Given the description of an element on the screen output the (x, y) to click on. 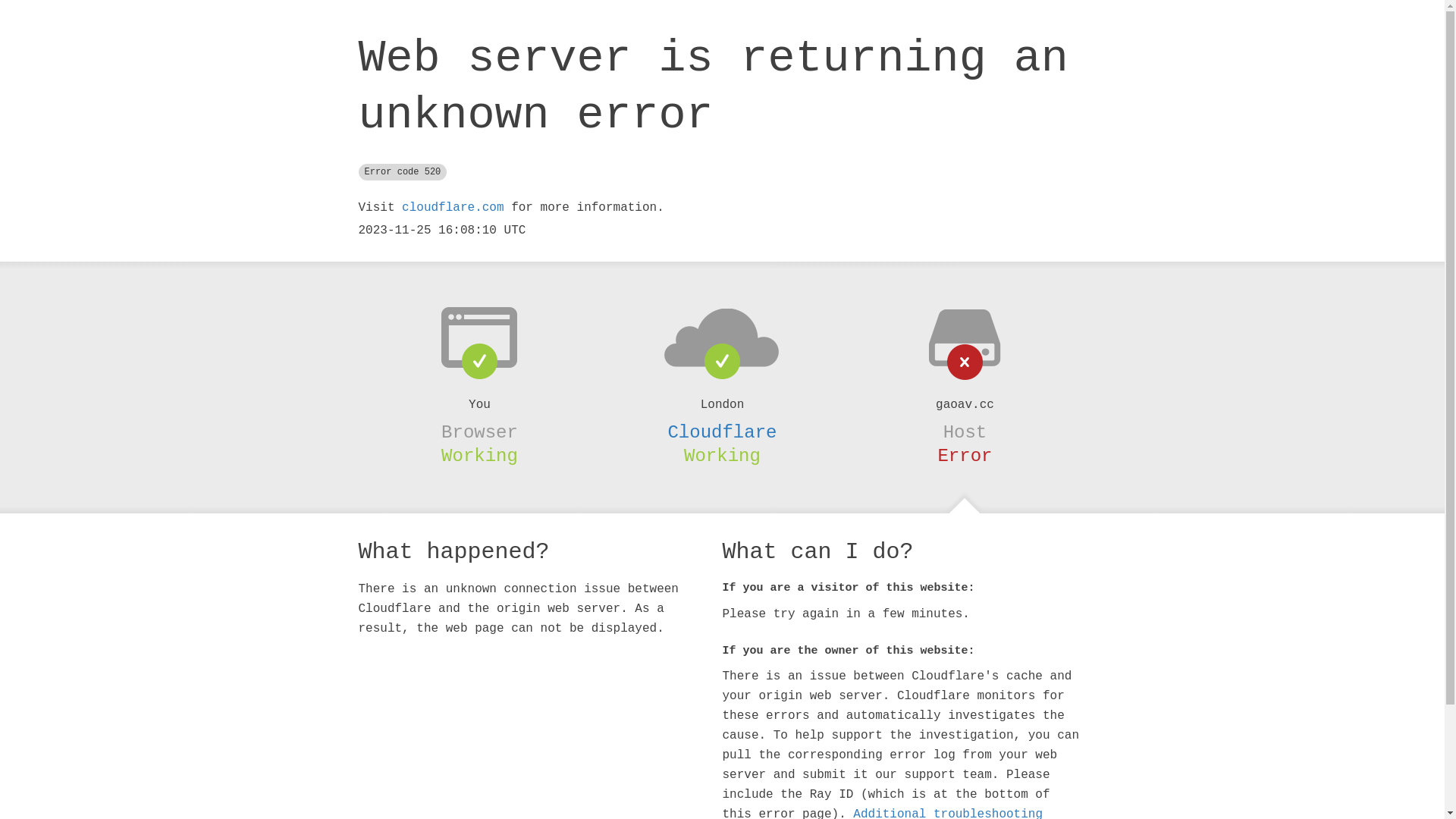
cloudflare.com Element type: text (452, 207)
Cloudflare Element type: text (721, 432)
